Given the description of an element on the screen output the (x, y) to click on. 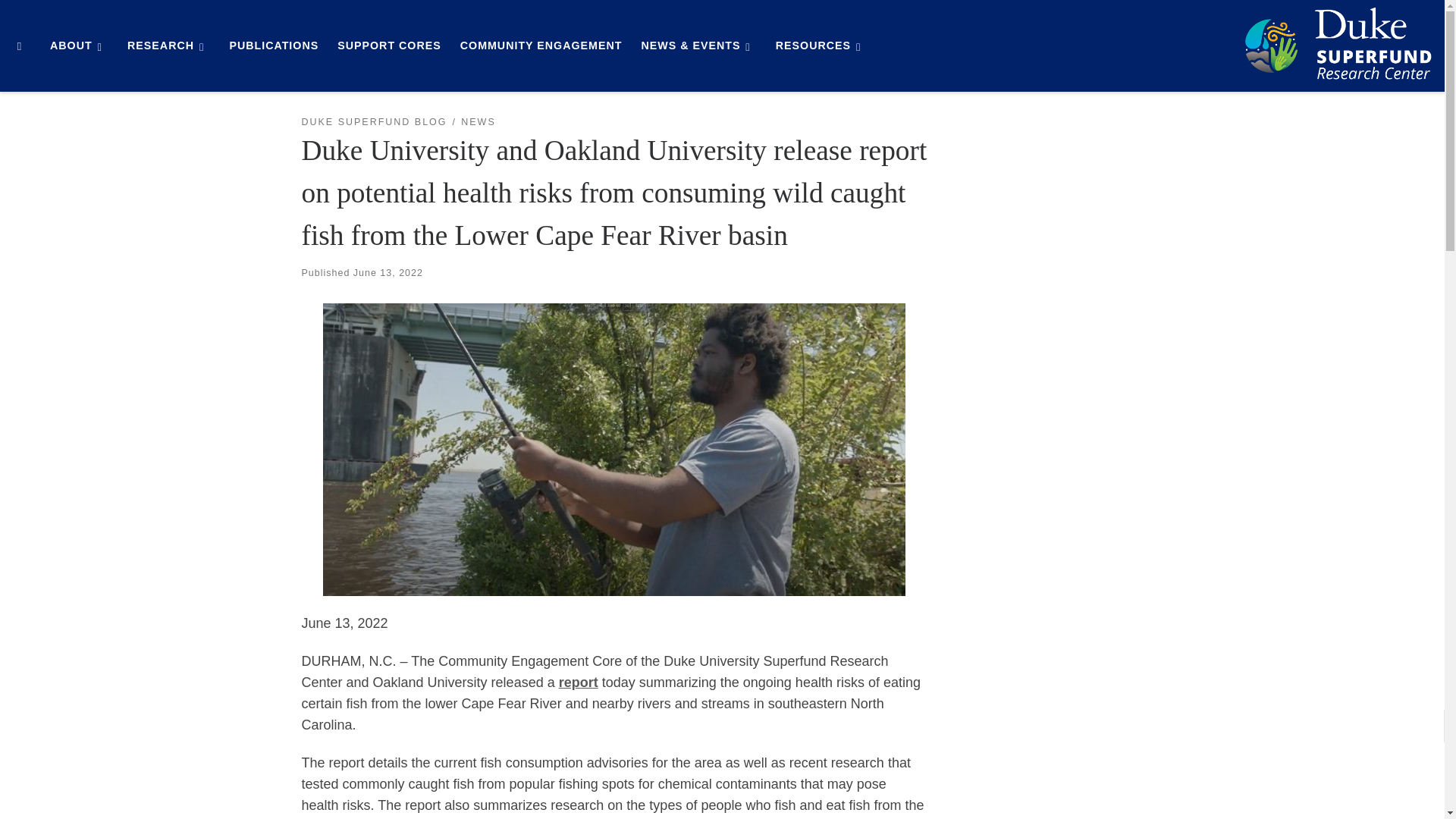
View all posts in News (478, 122)
SUPPORT CORES (389, 45)
View all posts in Duke Superfund Blog (373, 122)
1:48 pm (388, 272)
ABOUT (79, 45)
PUBLICATIONS (273, 45)
COMMUNITY ENGAGEMENT (540, 45)
Skip to content (60, 20)
RESOURCES (821, 45)
RESEARCH (168, 45)
